Given the description of an element on the screen output the (x, y) to click on. 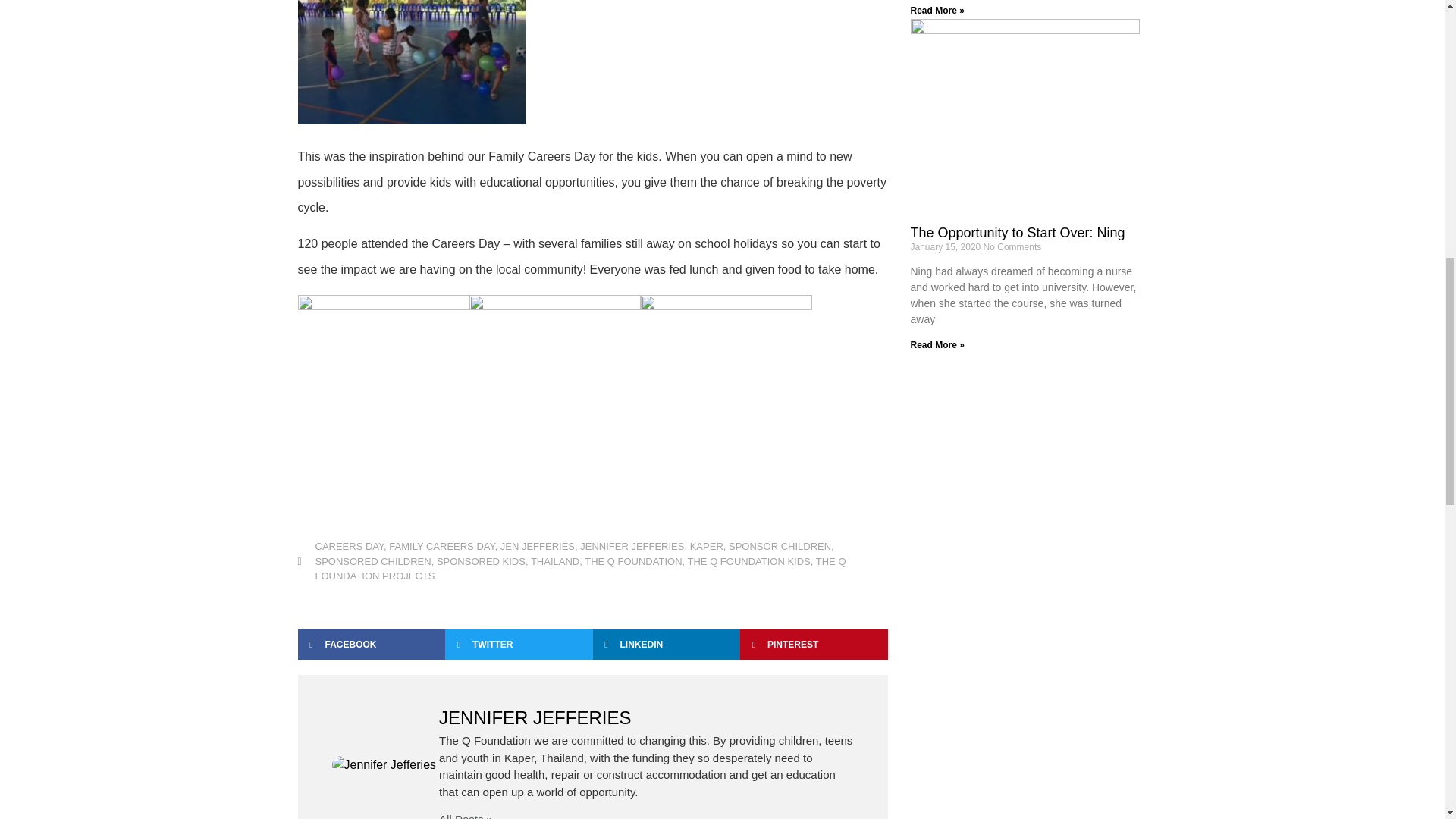
FAMILY CAREERS DAY (441, 546)
JENNIFER JEFFERIES (631, 546)
JEN JEFFERIES (537, 546)
CAREERS DAY (349, 546)
